Given the description of an element on the screen output the (x, y) to click on. 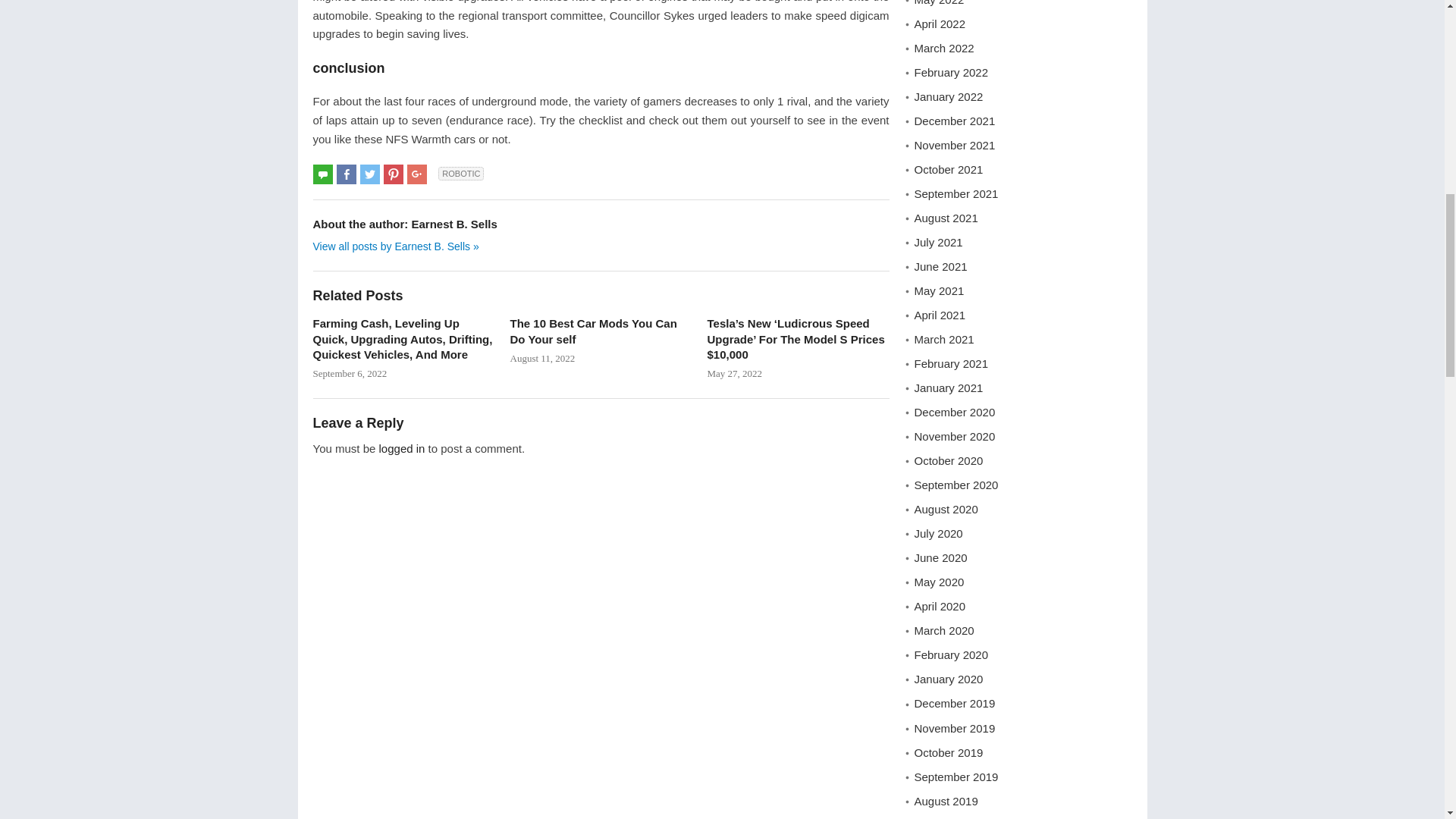
Share on Facebook (346, 174)
Share on Pinterest (393, 174)
Share on Twitter (369, 174)
